Given the description of an element on the screen output the (x, y) to click on. 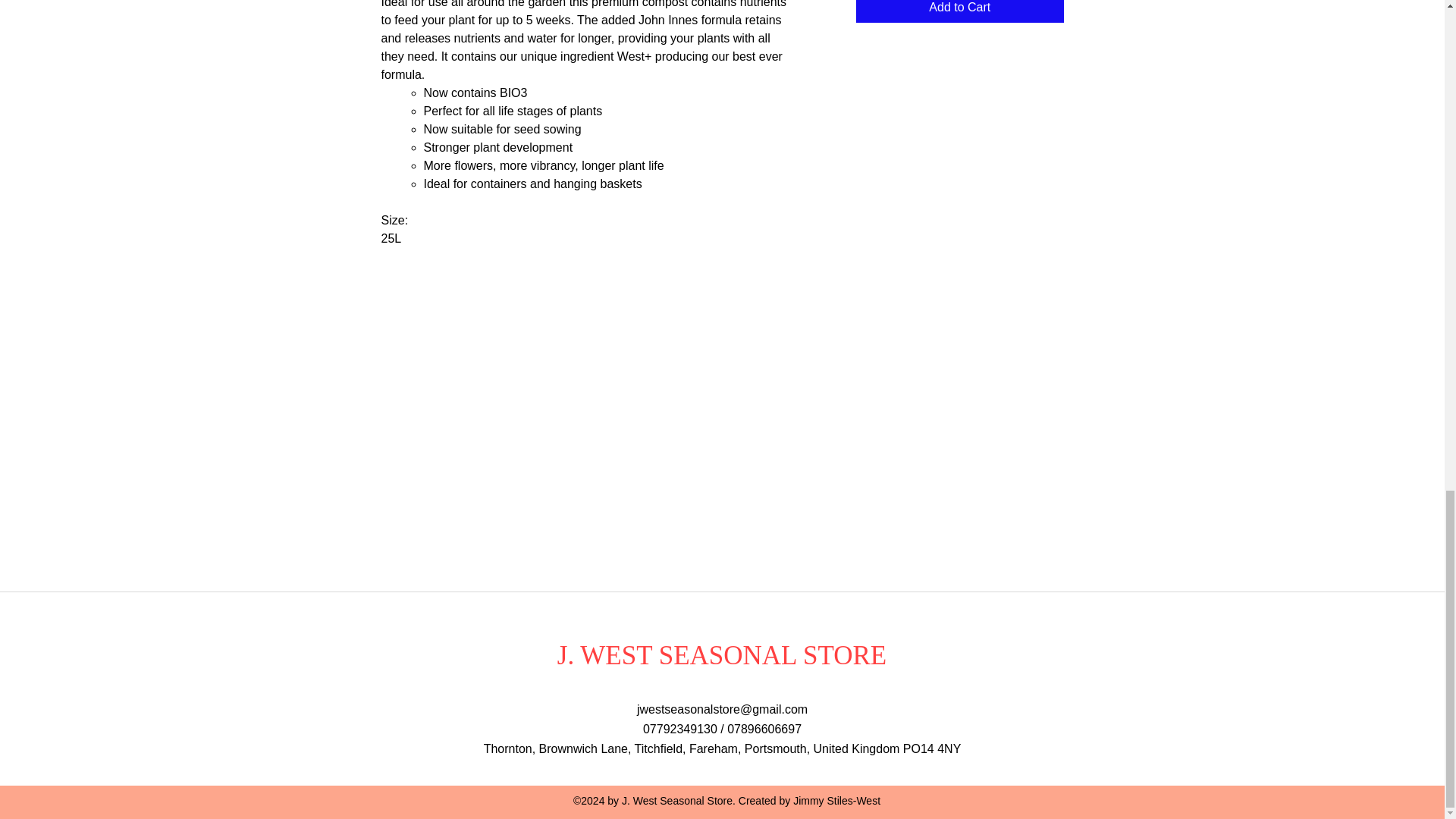
Add to Cart (959, 11)
